Given the description of an element on the screen output the (x, y) to click on. 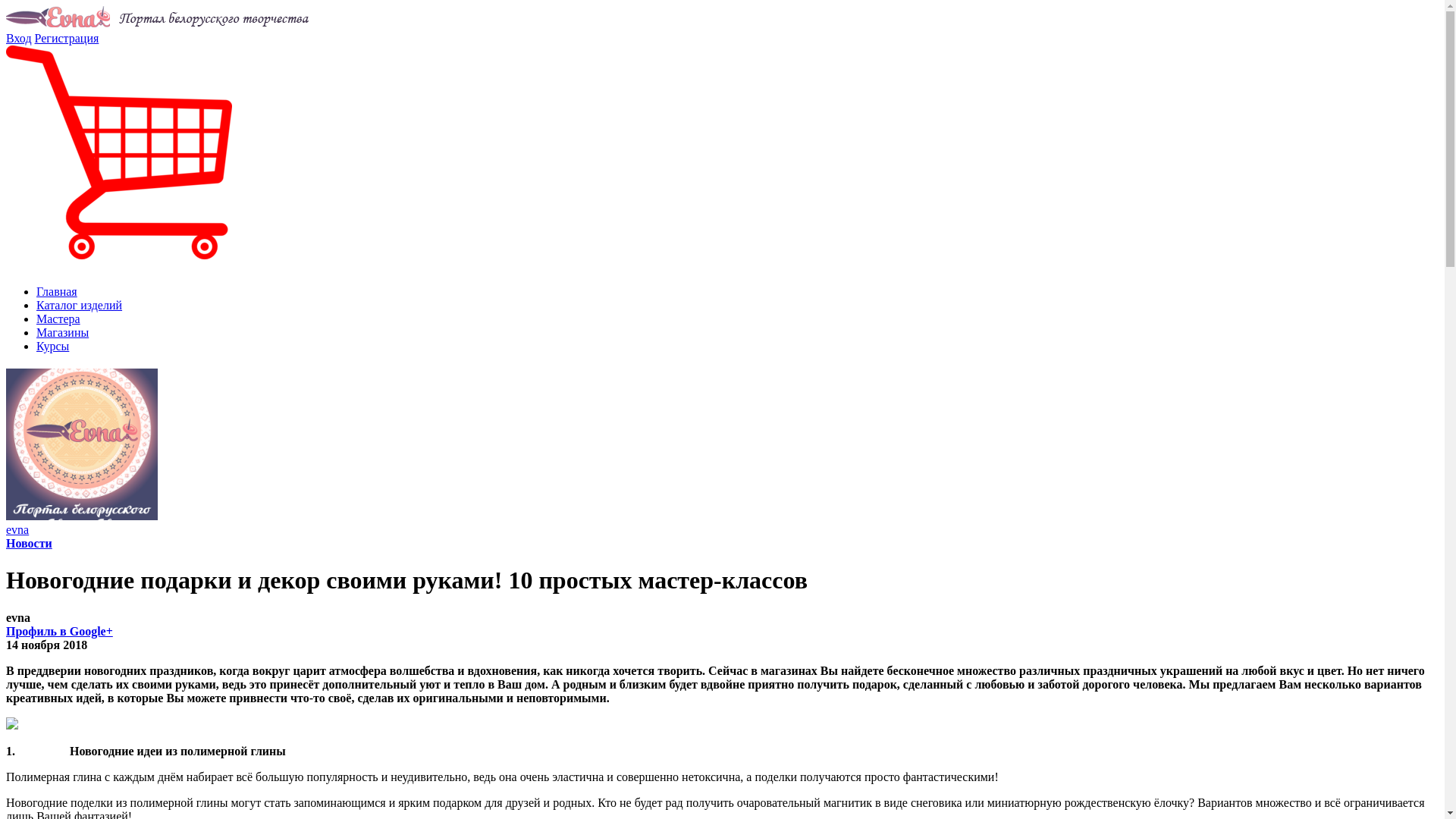
evna Element type: text (17, 529)
EVNA Element type: hover (157, 17)
